Given the description of an element on the screen output the (x, y) to click on. 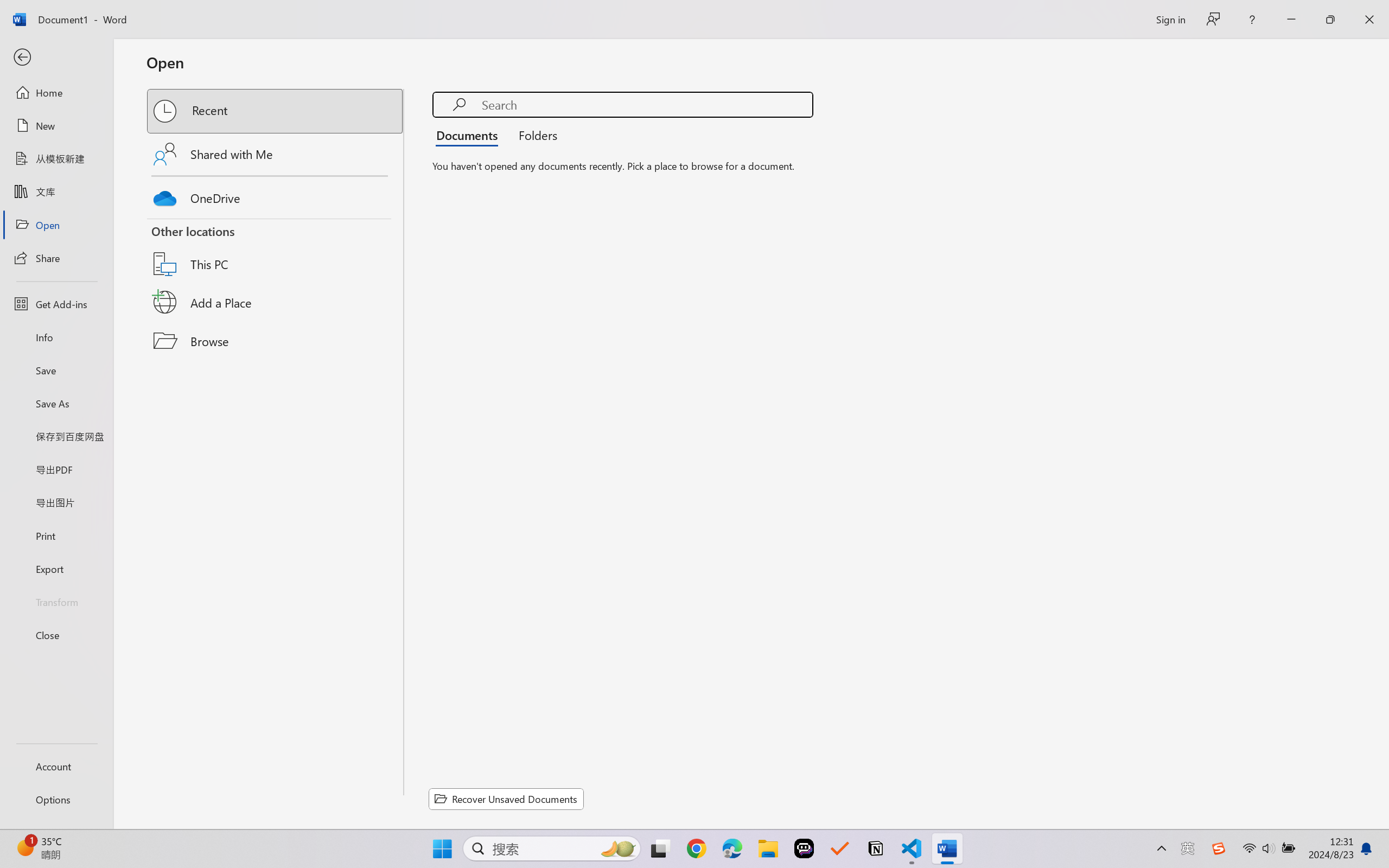
OneDrive (275, 195)
Recover Unsaved Documents (506, 798)
Recent (275, 110)
New (56, 125)
Browse (275, 340)
